Given the description of an element on the screen output the (x, y) to click on. 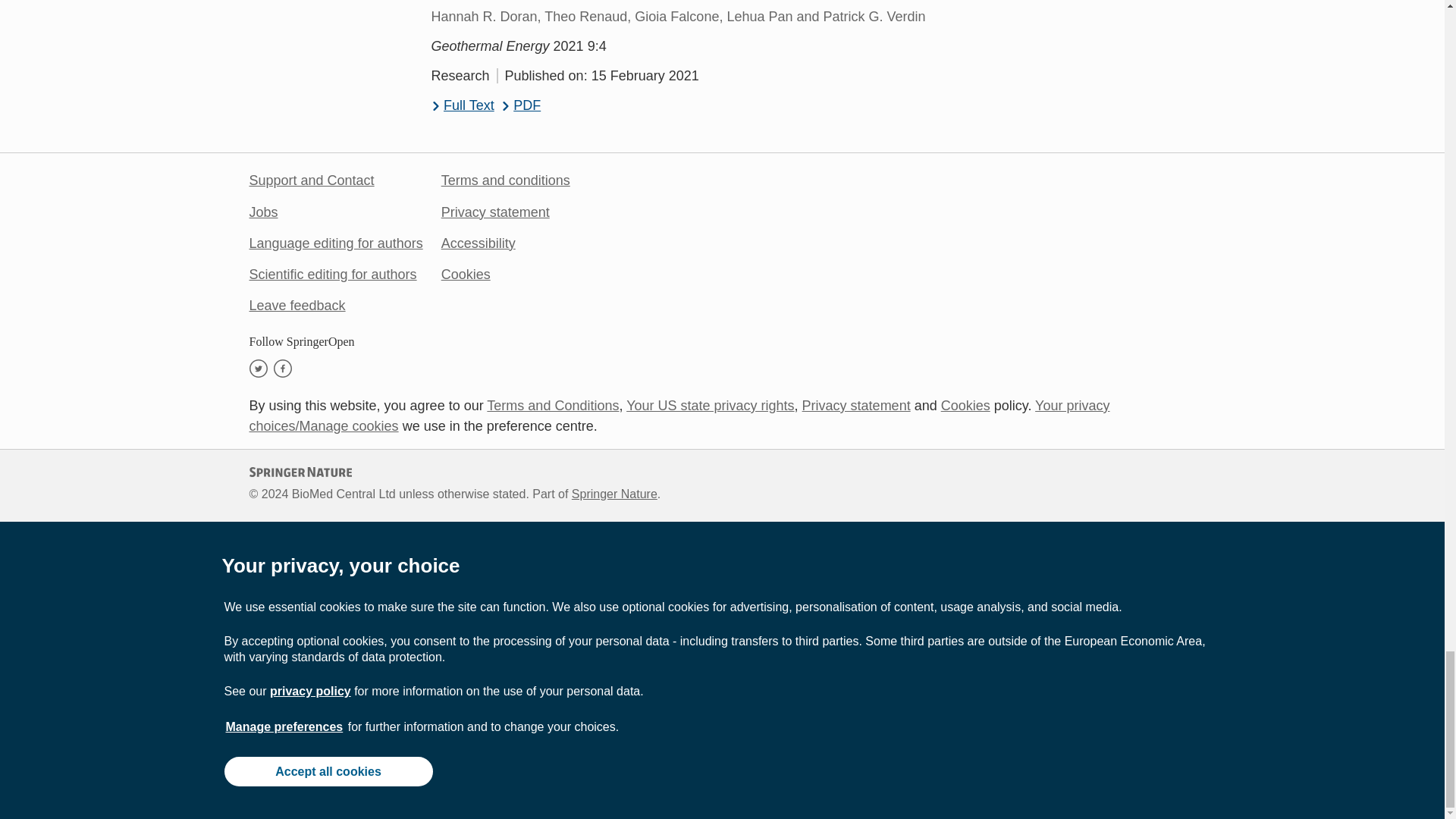
Full Text (461, 105)
PDF (520, 105)
